Given the description of an element on the screen output the (x, y) to click on. 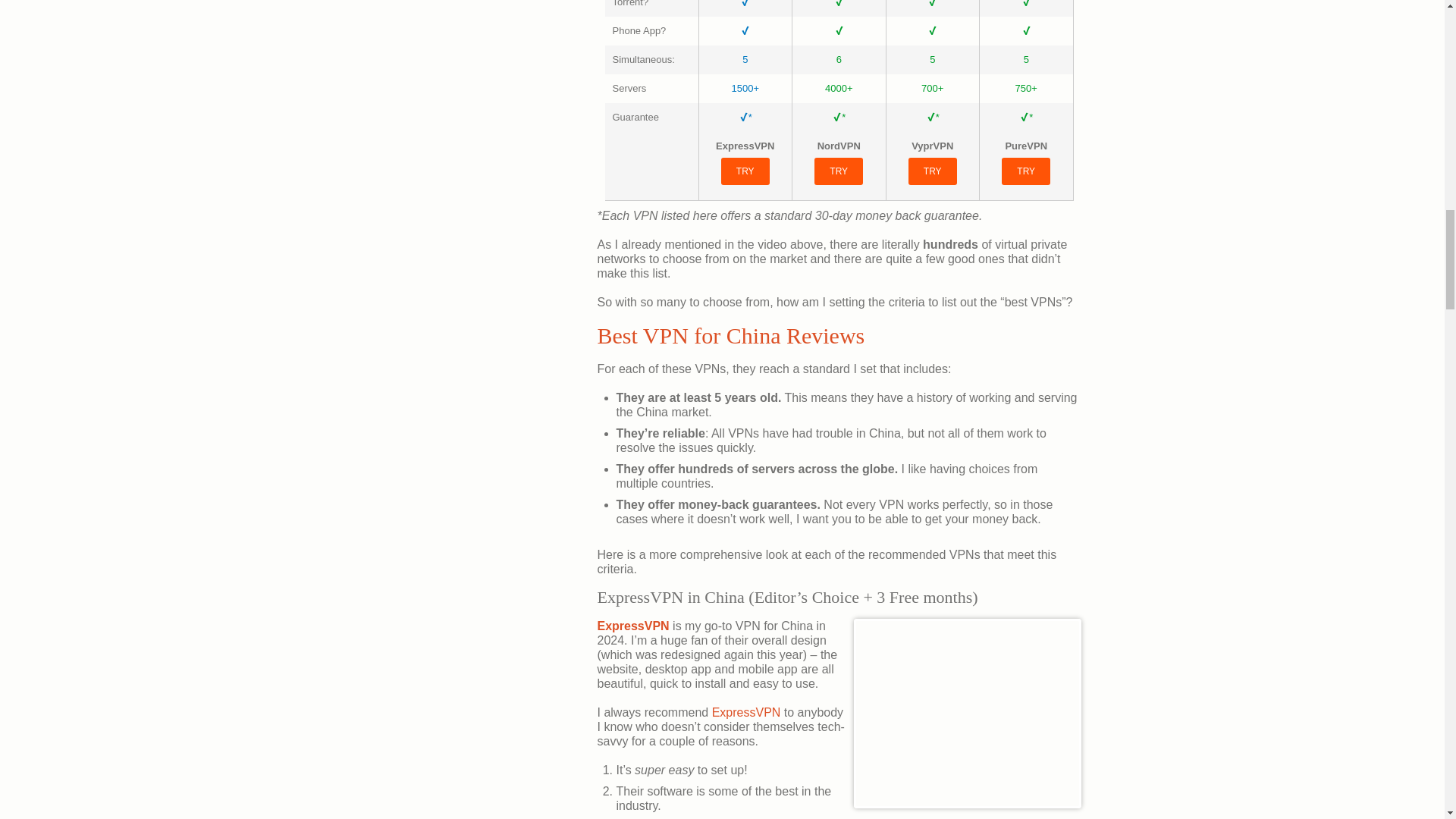
TRY (838, 171)
TRY (932, 171)
ExpressVPN (632, 625)
TRY (745, 171)
TRY (1025, 171)
